Given the description of an element on the screen output the (x, y) to click on. 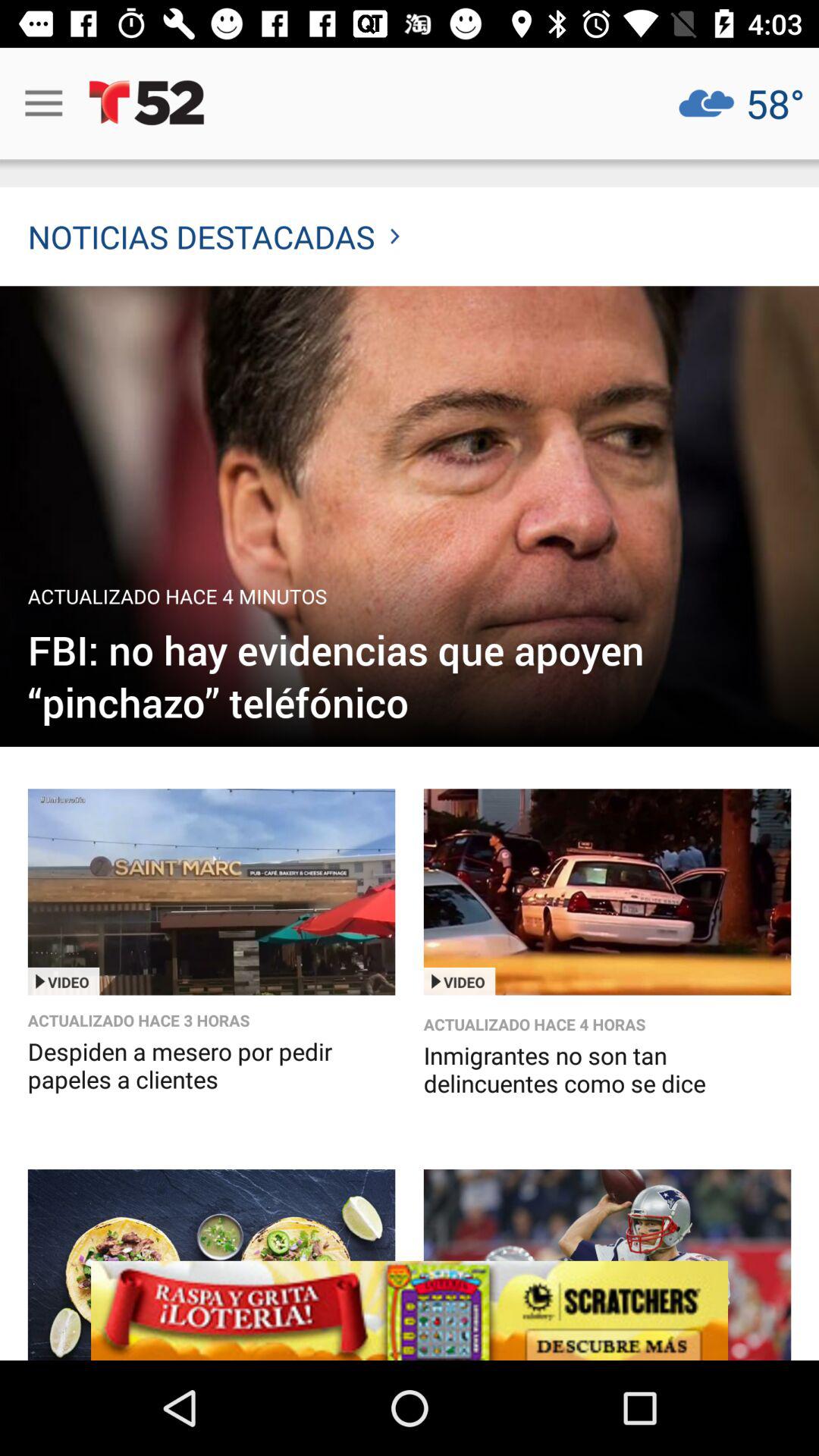
scroll until the noticias destacadas (213, 236)
